Given the description of an element on the screen output the (x, y) to click on. 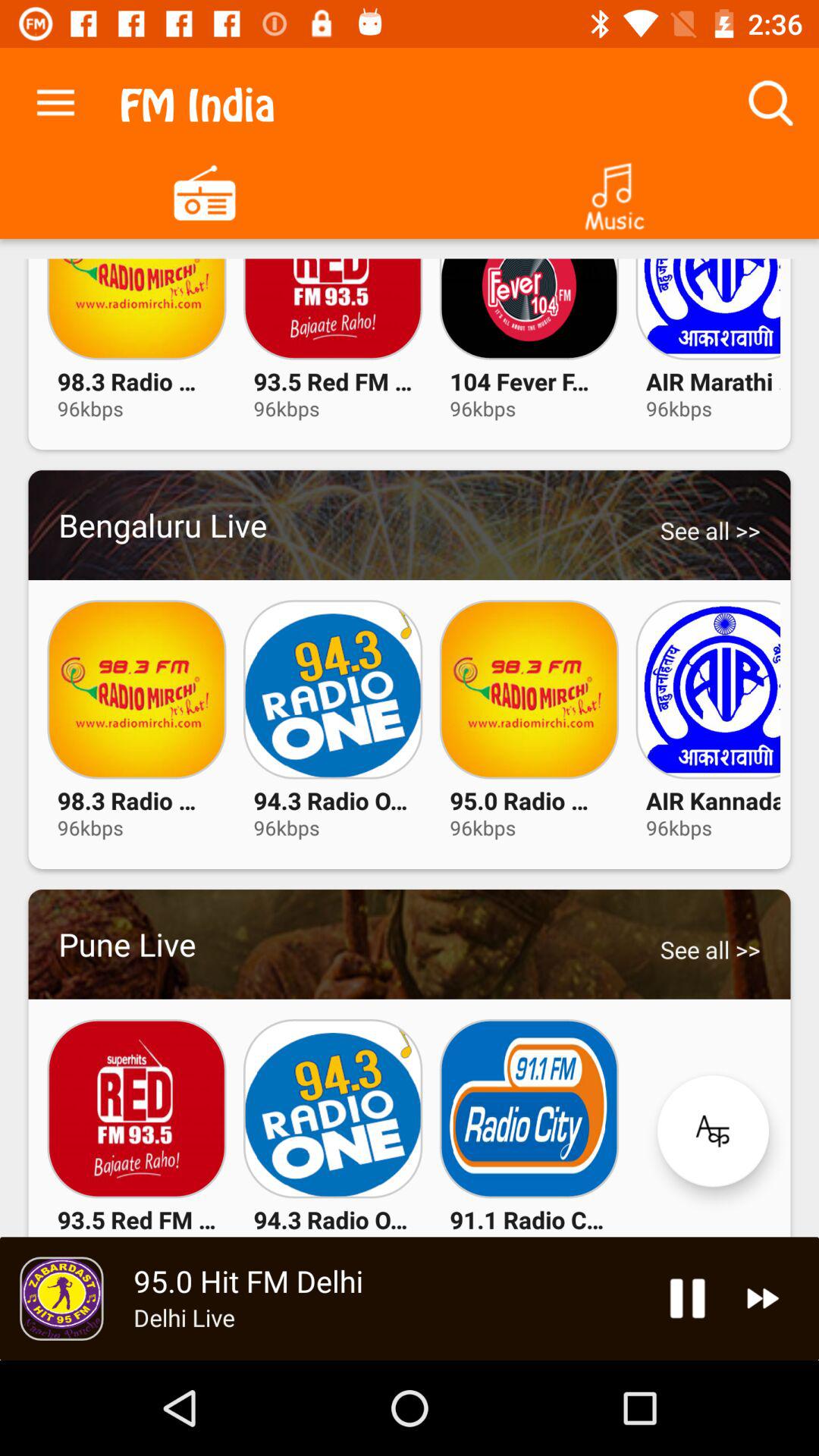
press item next to the fm india app (55, 99)
